Given the description of an element on the screen output the (x, y) to click on. 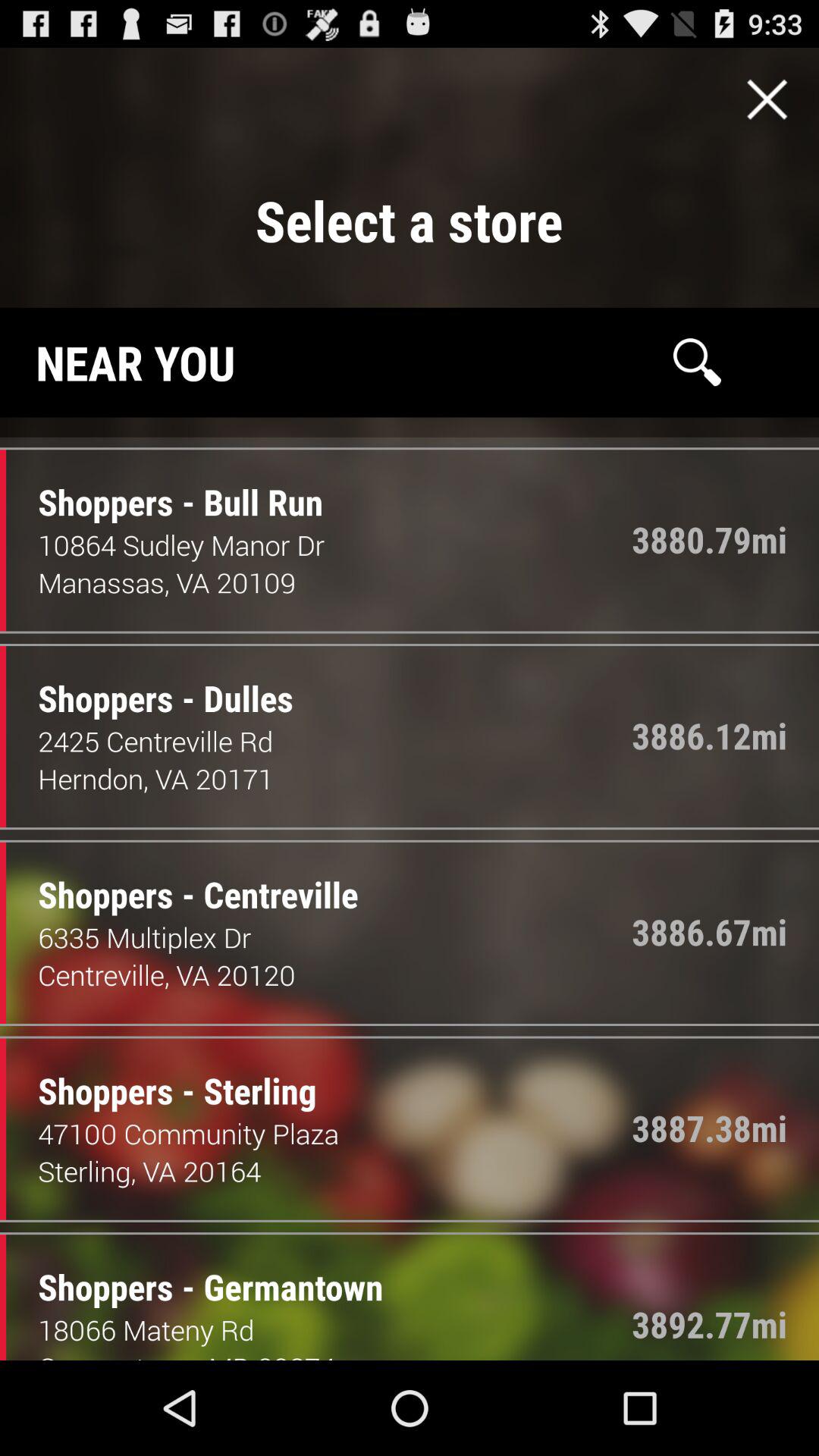
turn off the icon above sterling, va 20164 (334, 1133)
